Given the description of an element on the screen output the (x, y) to click on. 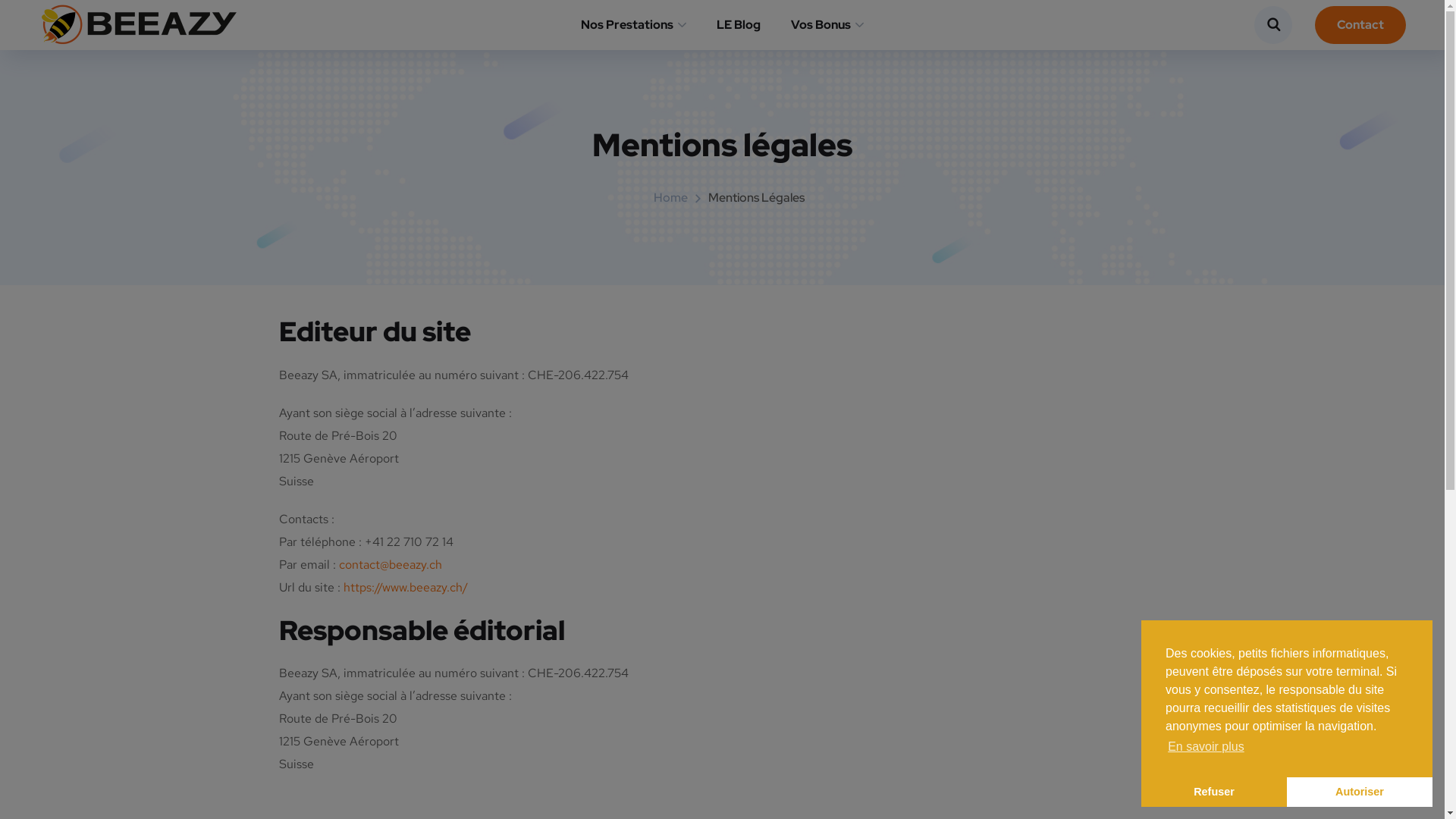
En savoir plus Element type: text (1205, 746)
Contact Element type: text (1359, 24)
Home Element type: text (670, 197)
https://www.beeazy.ch/ Element type: text (404, 587)
Nos Prestations Element type: text (633, 24)
Autoriser Element type: text (1359, 791)
contact@beeazy.ch Element type: text (389, 564)
Vos Bonus Element type: text (826, 24)
LE Blog Element type: text (738, 24)
Refuser Element type: text (1213, 791)
